Given the description of an element on the screen output the (x, y) to click on. 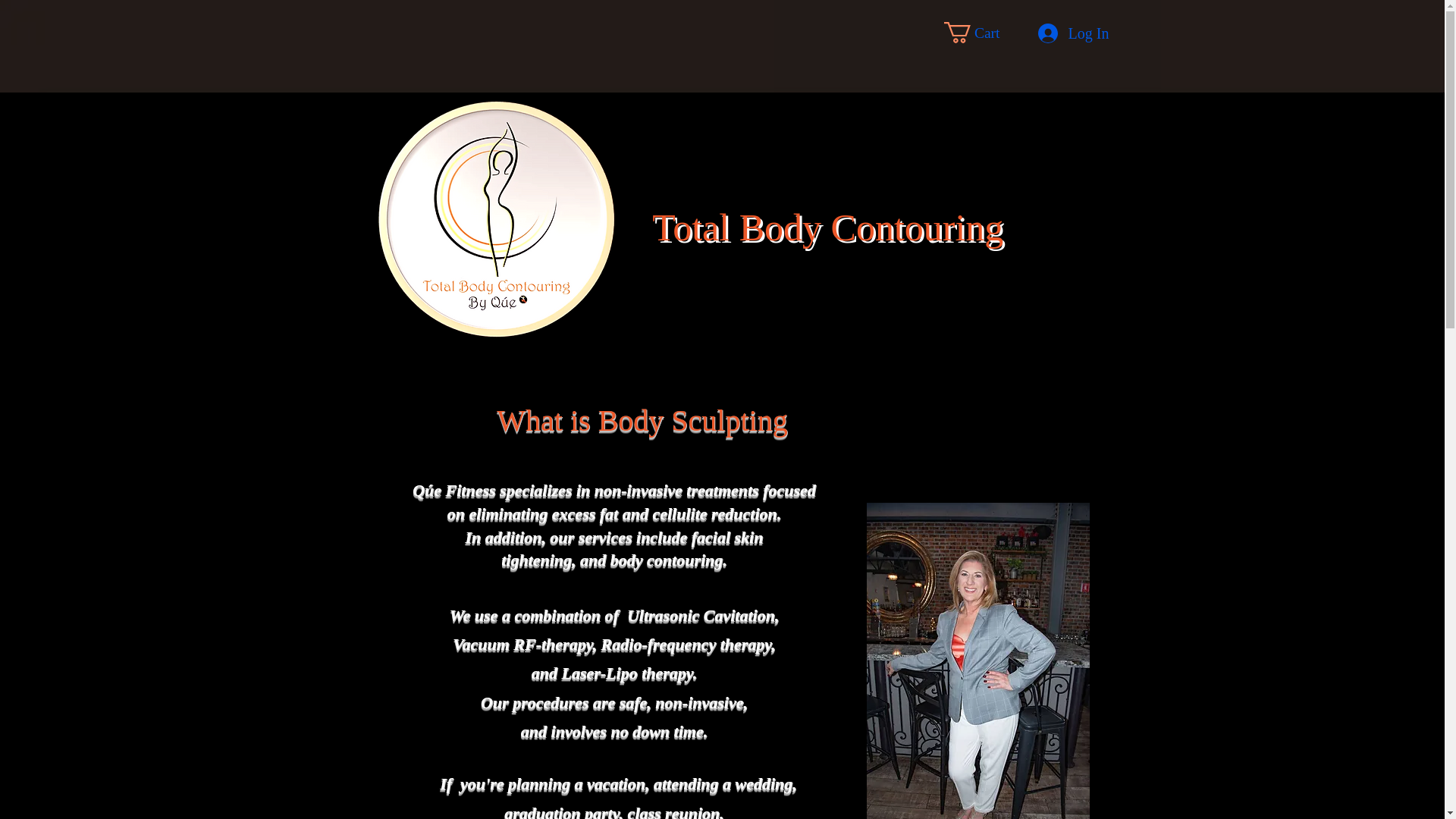
Cart (984, 32)
Cart (984, 32)
Log In (1042, 33)
